Given the description of an element on the screen output the (x, y) to click on. 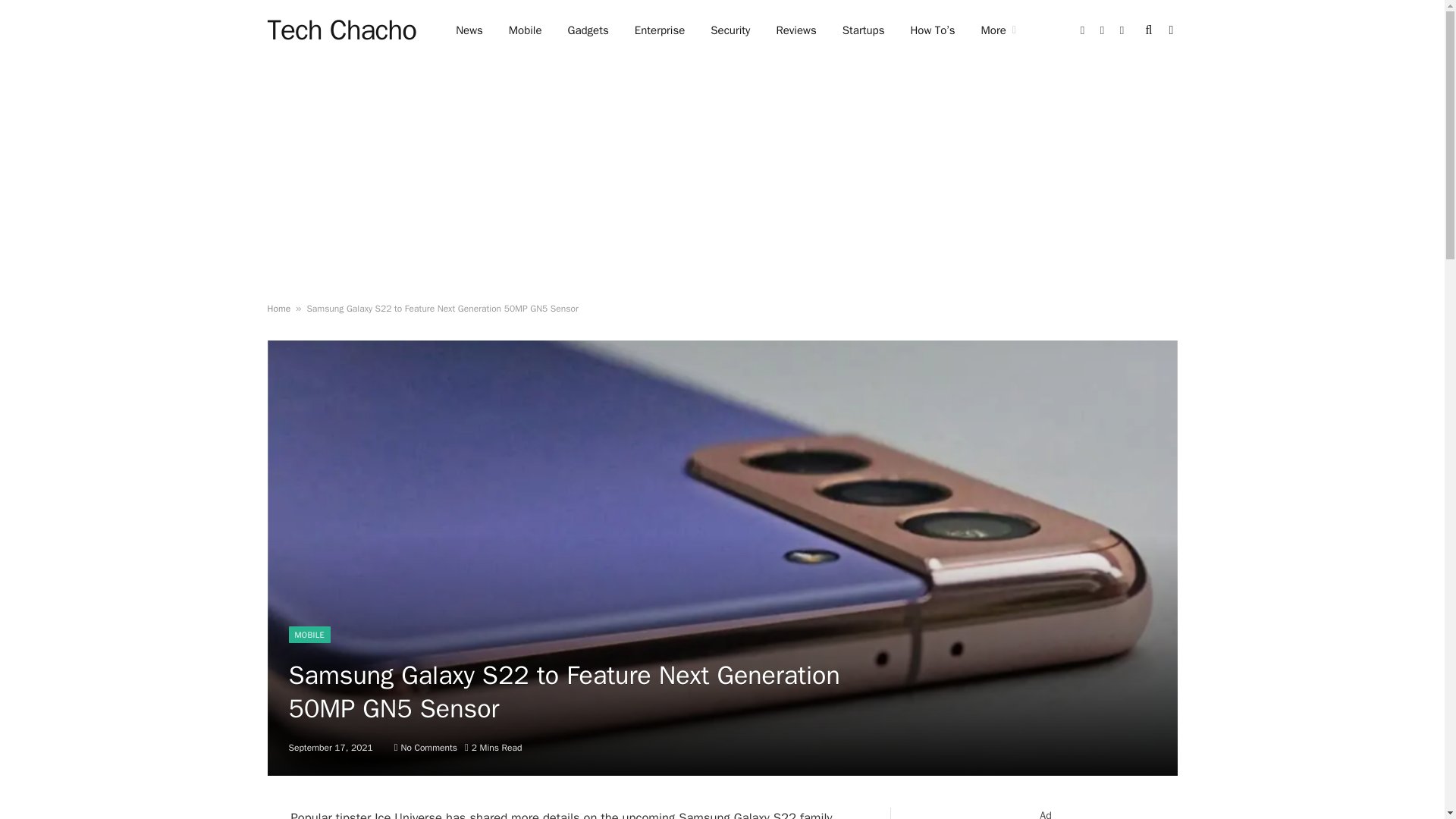
MOBILE (309, 634)
Mobile (525, 30)
Tech Chacho (341, 30)
Tech Chacho (341, 30)
No Comments (425, 747)
Home (277, 308)
Security (729, 30)
Gadgets (587, 30)
Reviews (795, 30)
Startups (863, 30)
